Given the description of an element on the screen output the (x, y) to click on. 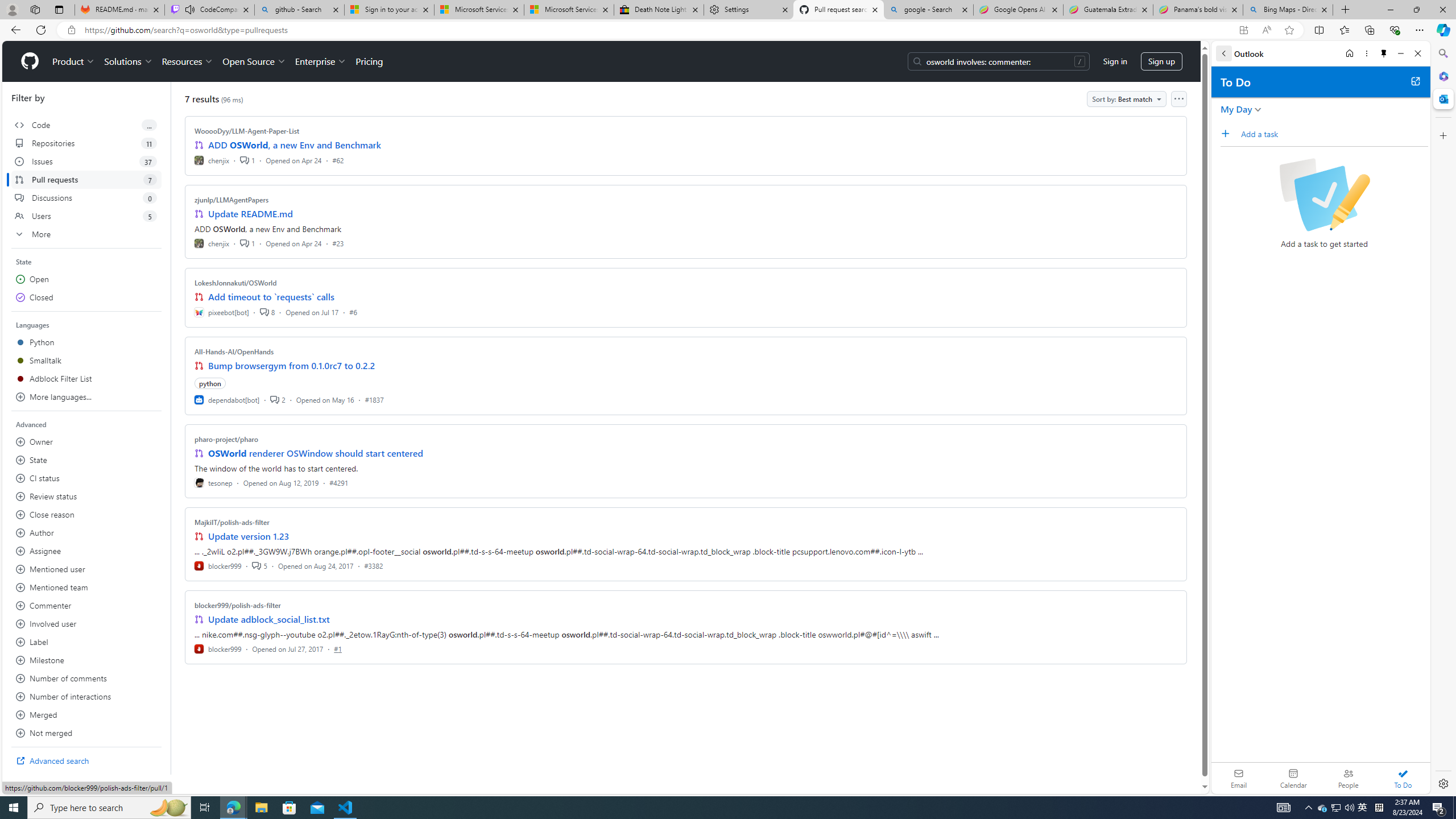
#23 (337, 242)
People (1347, 777)
Update version 1.23 (248, 535)
#62 (337, 159)
2 (277, 398)
Product (74, 60)
More languages... (86, 397)
